Given the description of an element on the screen output the (x, y) to click on. 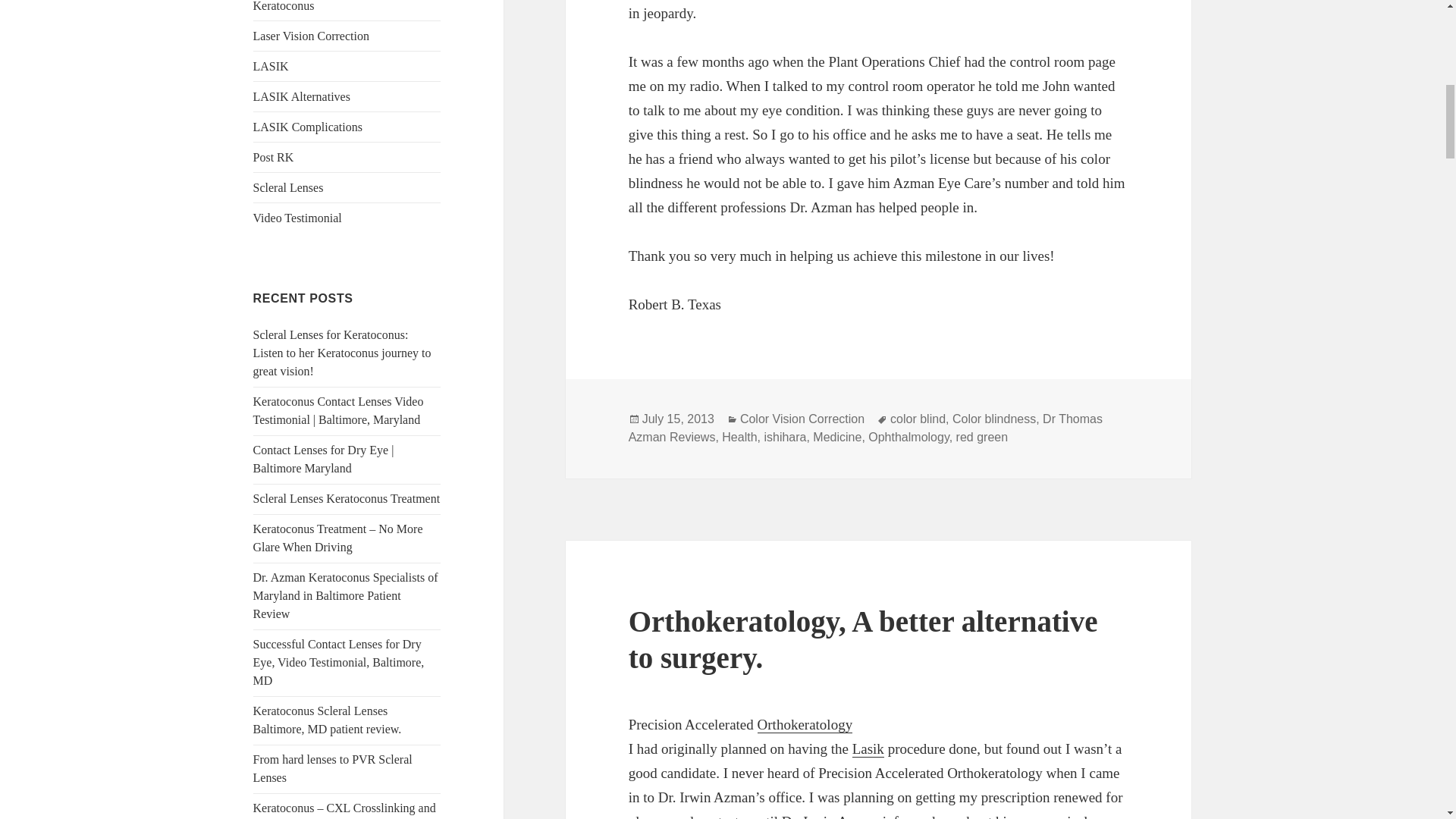
Laser Vision Correction (311, 35)
Keratoconus Scleral Lenses Baltimore, MD patient review. (327, 719)
LASIK Complications (307, 126)
Lasik Surgery (867, 749)
LASIK Alternatives (301, 96)
Keratoconus (283, 6)
LASIK (270, 65)
Orthokeratology (805, 724)
Scleral Lenses Keratoconus Treatment (347, 498)
From hard lenses to PVR Scleral Lenses (332, 767)
Scleral Lenses (288, 187)
Video Testimonial (297, 217)
